Given the description of an element on the screen output the (x, y) to click on. 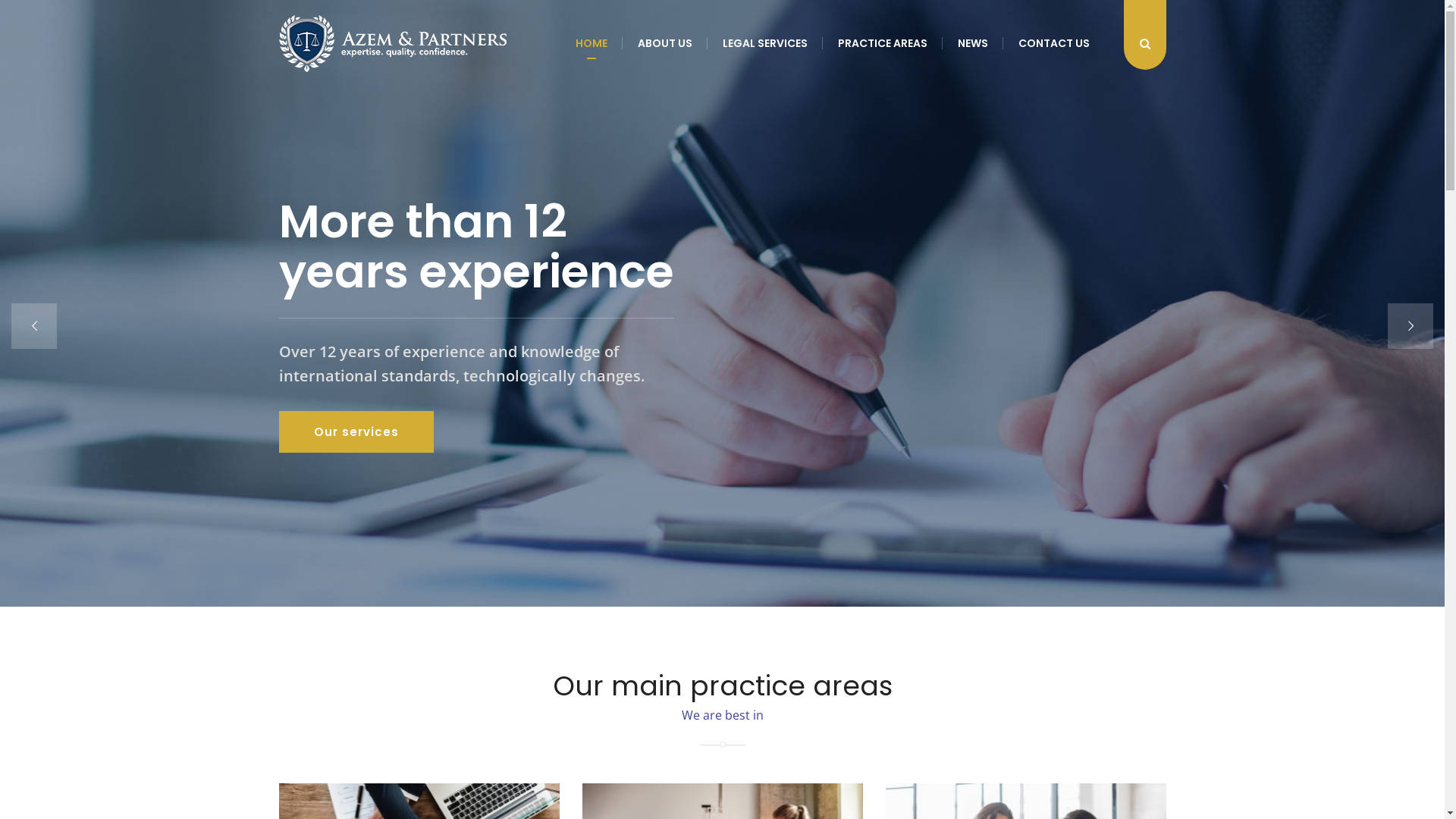
LEGAL SERVICES Element type: text (764, 42)
HOME Element type: text (590, 42)
PRACTICE AREAS Element type: text (881, 42)
ABOUT US Element type: text (663, 42)
CONTACT US Element type: text (1053, 42)
NEWS Element type: text (971, 42)
Our services Element type: text (356, 431)
